Given the description of an element on the screen output the (x, y) to click on. 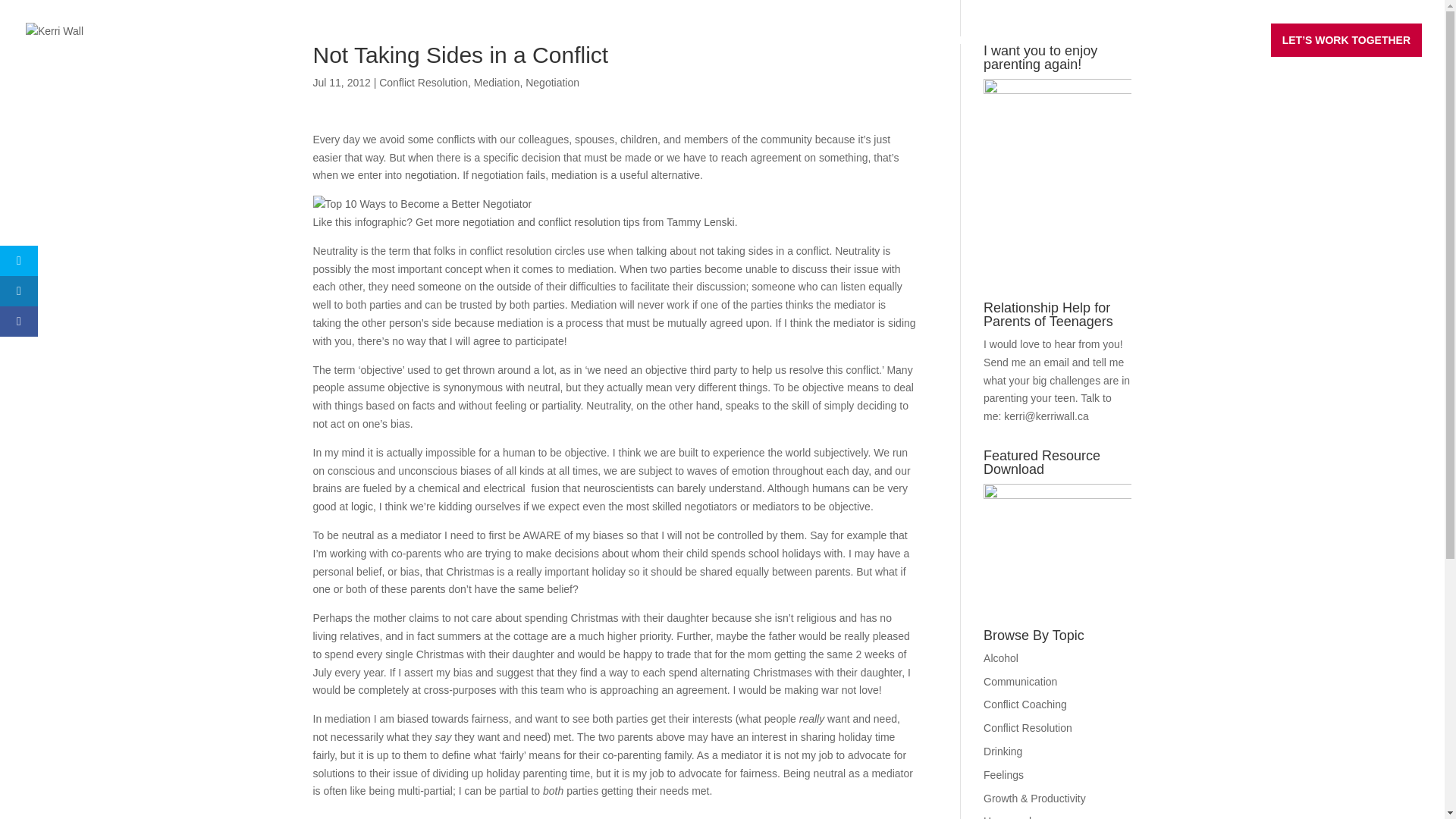
Conflict Coaching (1025, 704)
Conflict Resolution (422, 82)
someone on the outside (474, 286)
Conflict Resolution (1027, 727)
Alcohol (1000, 657)
Homework (1008, 816)
CONTACT (1224, 51)
Drinking (1003, 751)
Feelings (1003, 775)
ABOUT (1161, 51)
Tammy Lenski (699, 222)
Communication (1020, 681)
Top 10 Ways to Become a Better Negotiator (422, 204)
Negotiation (552, 82)
negotiation (430, 174)
